Given the description of an element on the screen output the (x, y) to click on. 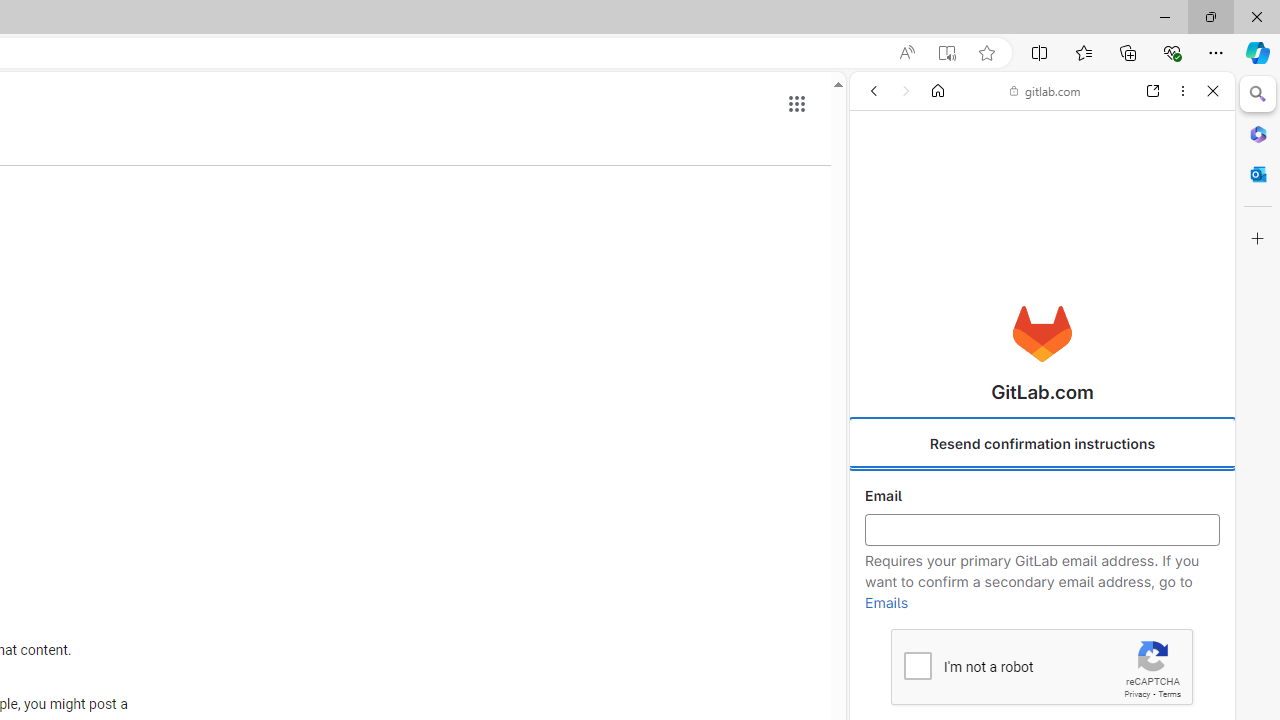
Terms (1169, 694)
Close (1213, 91)
SEARCH TOOLS (1090, 228)
Minimize (1164, 16)
Browser essentials (1171, 52)
Collections (1128, 52)
VIDEOS (1002, 228)
GitLab.com (1042, 333)
Search Filter, VIDEOS (1002, 228)
Copilot (Ctrl+Shift+.) (1258, 52)
gitlab.com (1045, 90)
Home (938, 91)
More options (1182, 91)
Login (1042, 494)
Confirmation Page (1042, 690)
